Given the description of an element on the screen output the (x, y) to click on. 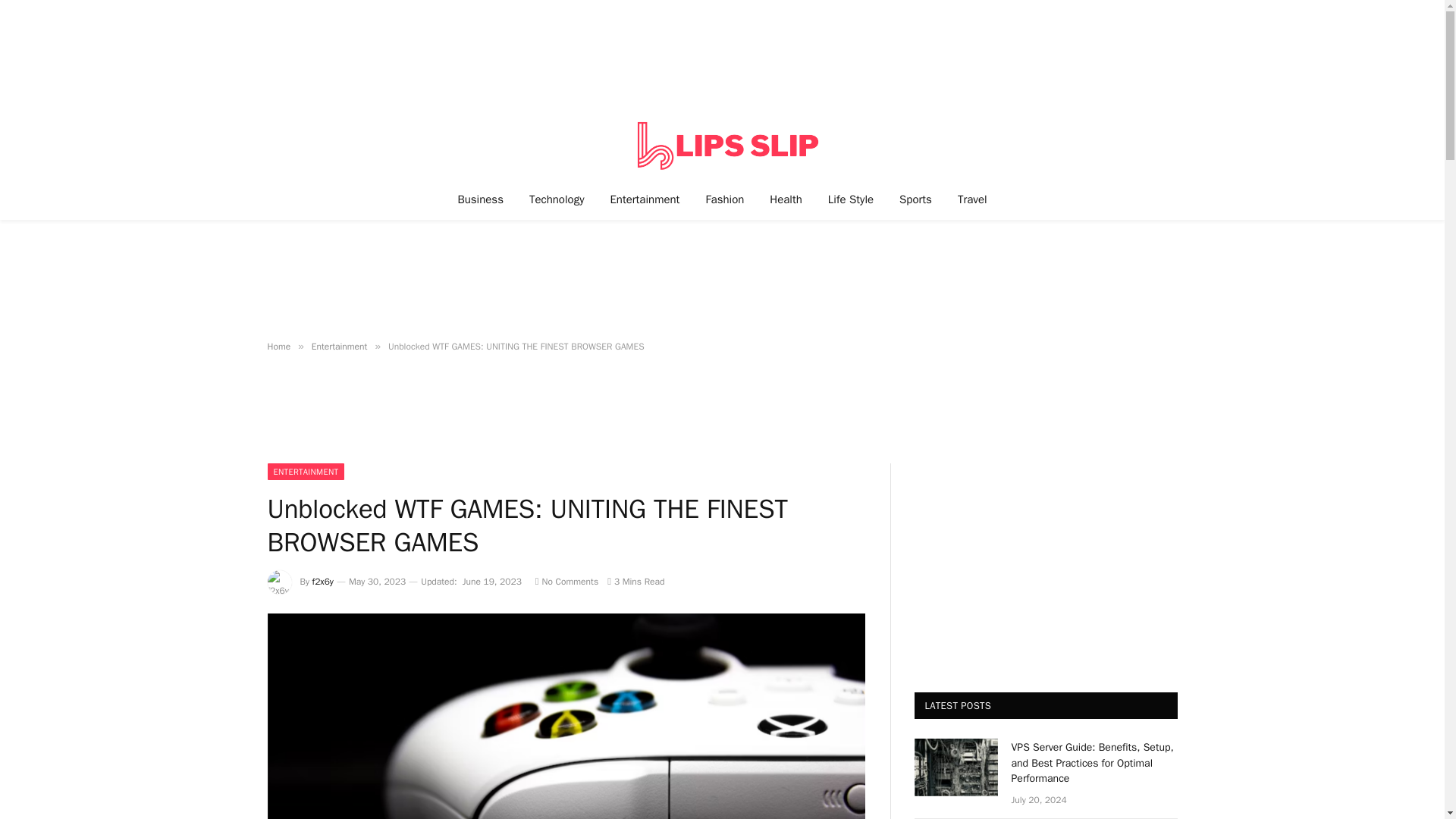
Health (786, 199)
Posts by f2x6y (323, 581)
Entertainment (644, 199)
Advertisement (721, 418)
ENTERTAINMENT (304, 471)
Sports (915, 199)
Entertainment (339, 346)
Life Style (850, 199)
Advertisement (721, 280)
